Given the description of an element on the screen output the (x, y) to click on. 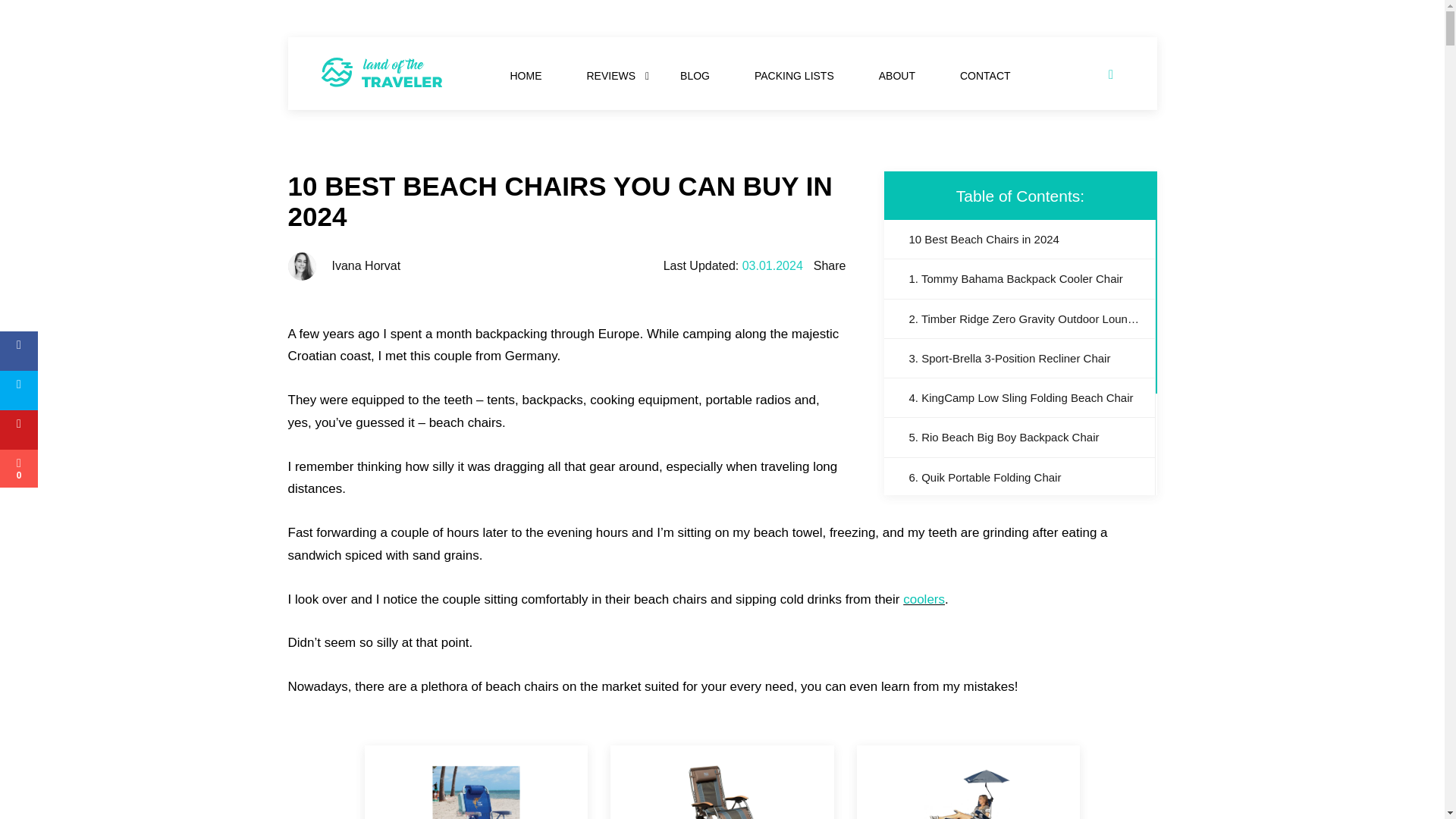
HOME (525, 75)
REVIEWS (611, 75)
